Given the description of an element on the screen output the (x, y) to click on. 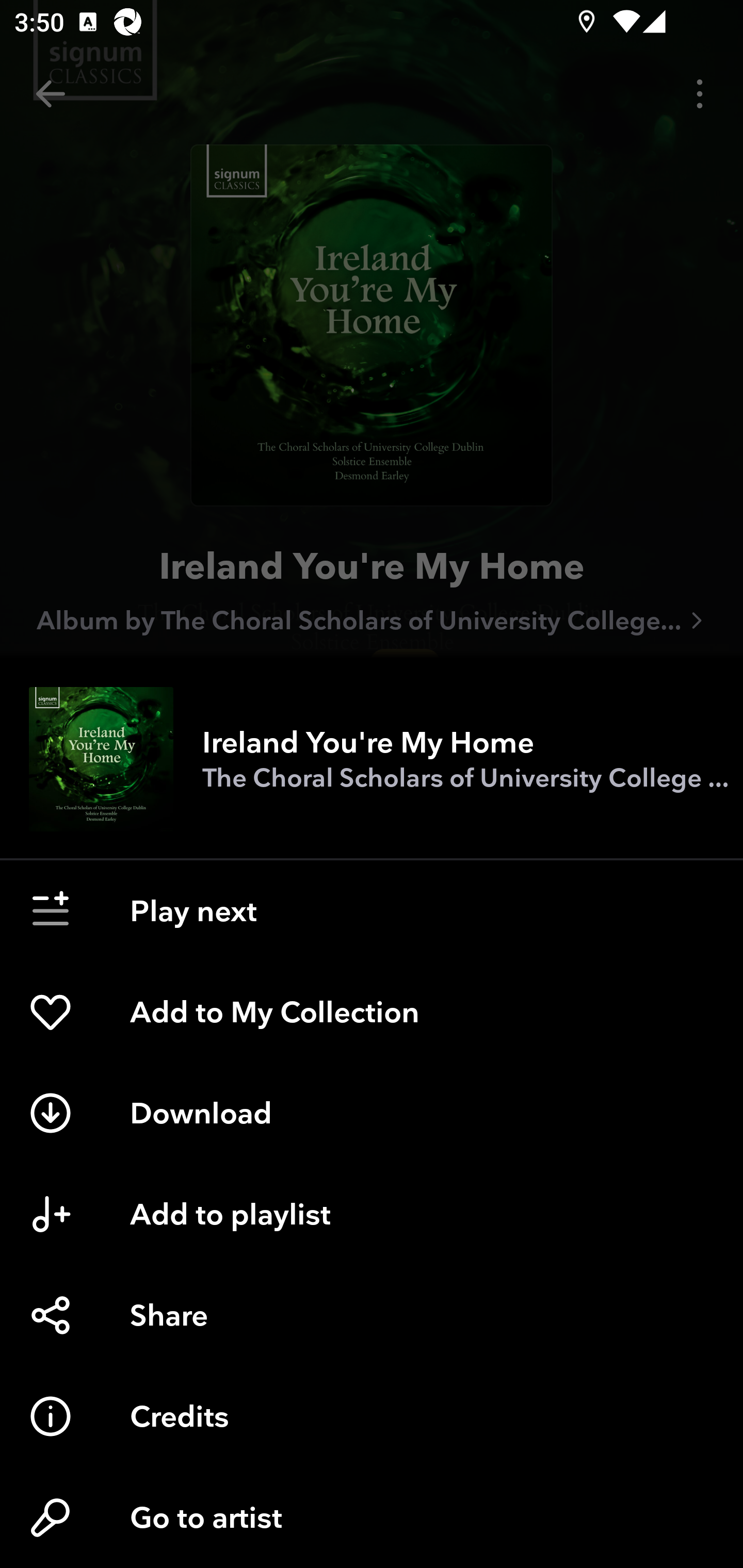
Play next (371, 910)
Add to My Collection (371, 1012)
Download (371, 1113)
Add to playlist (371, 1214)
Share (371, 1315)
Credits (371, 1416)
Go to artist (371, 1517)
